Given the description of an element on the screen output the (x, y) to click on. 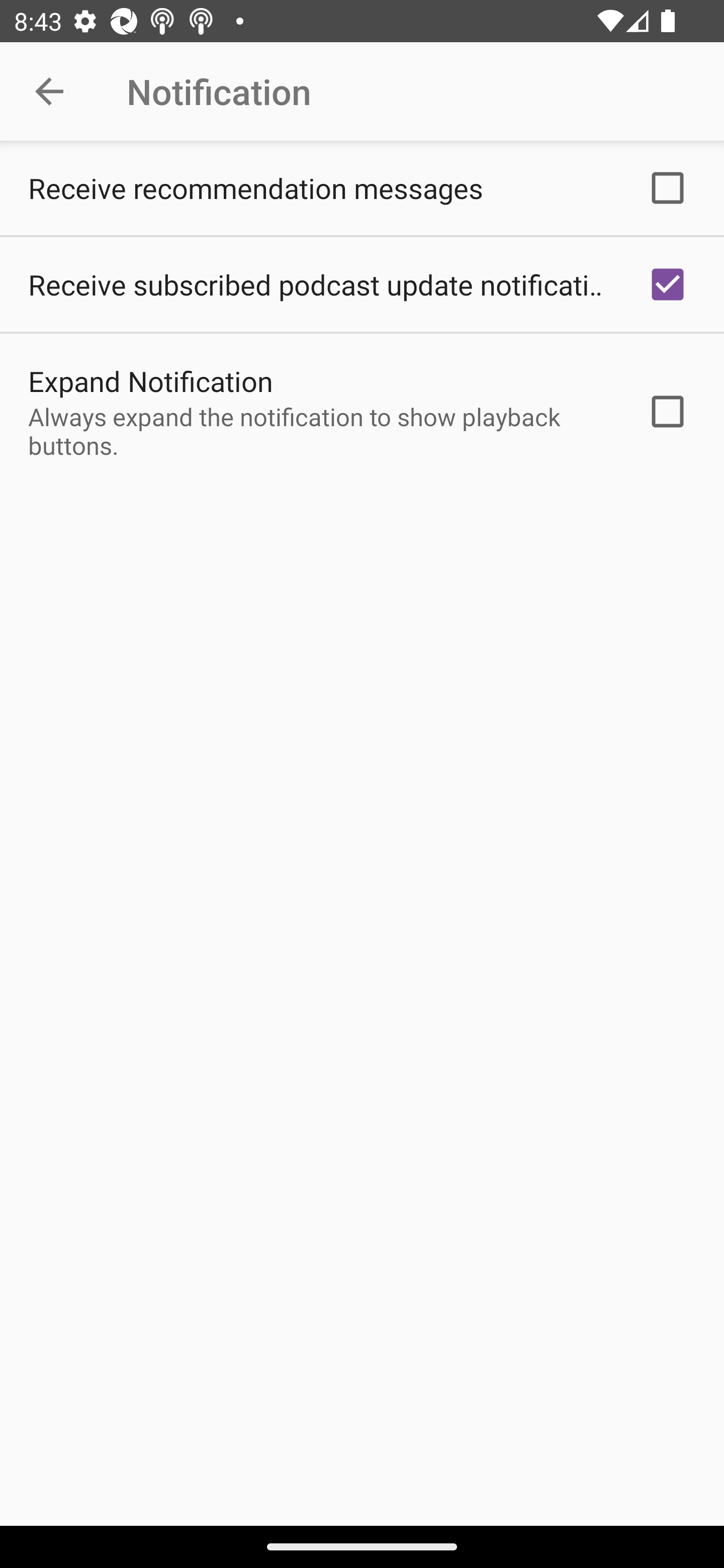
Receive recommendation messages (362, 188)
Receive subscribed podcast update notification (362, 284)
